Given the description of an element on the screen output the (x, y) to click on. 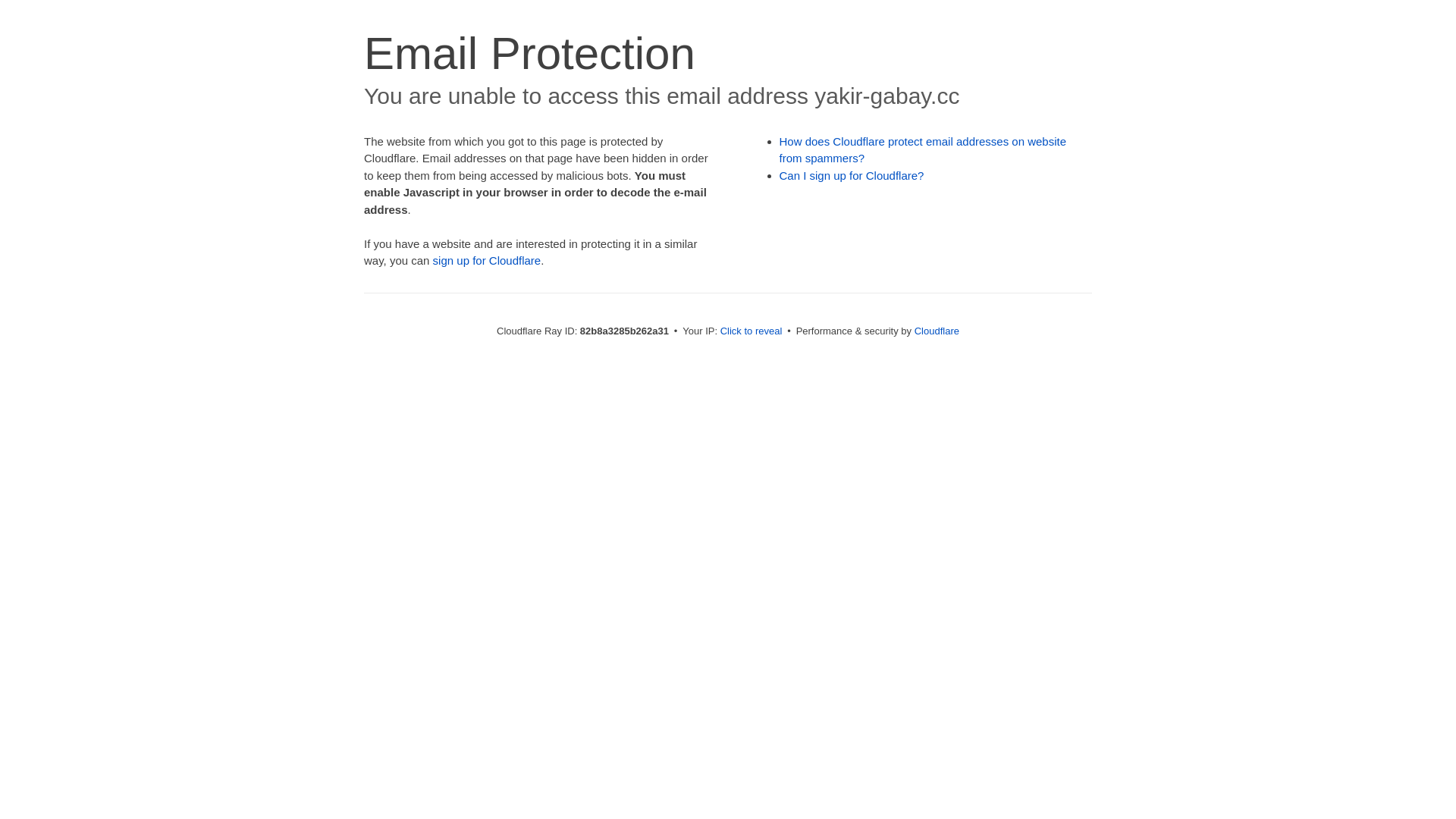
Click to reveal Element type: text (751, 330)
sign up for Cloudflare Element type: text (487, 260)
Can I sign up for Cloudflare? Element type: text (851, 175)
Cloudflare Element type: text (936, 330)
